Given the description of an element on the screen output the (x, y) to click on. 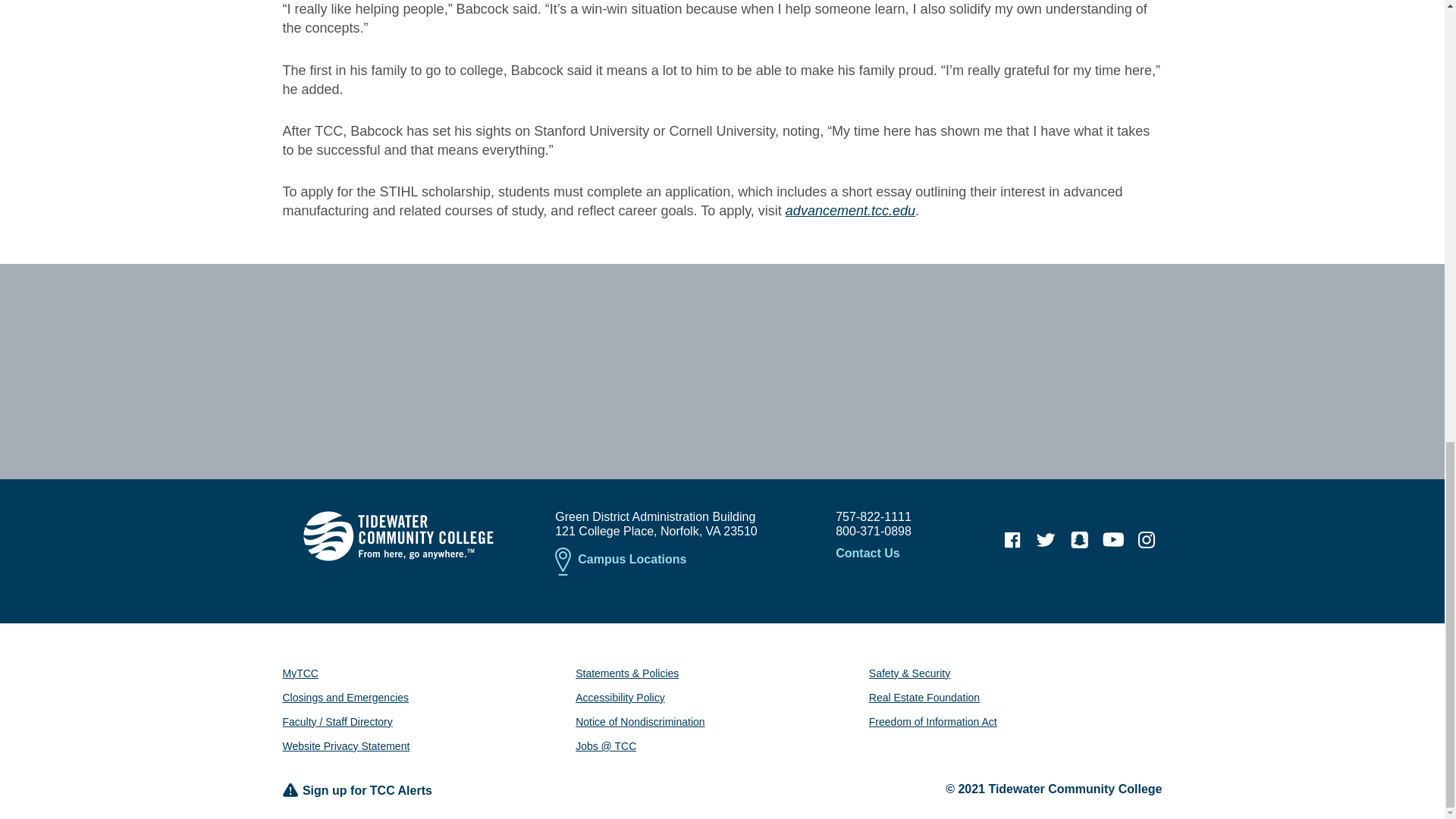
TCC on YouTube (1112, 539)
Tidewater Community College (398, 535)
TCC on Instagram (1146, 539)
TCC on Snapchat (1079, 539)
TCC on Twitter (1045, 539)
TCC on Facebook (1012, 539)
